Given the description of an element on the screen output the (x, y) to click on. 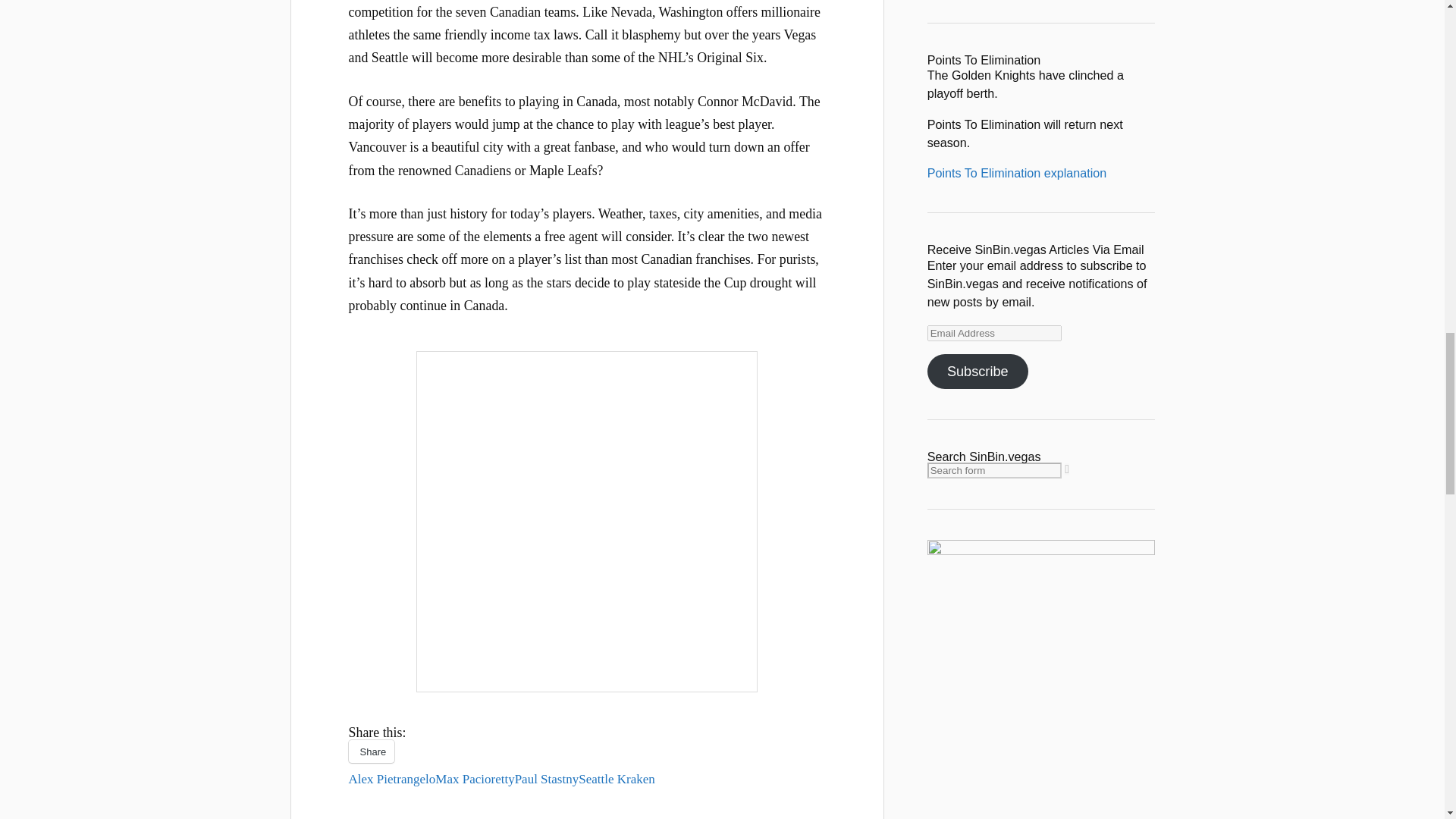
Seattle Kraken (616, 779)
Max Pacioretty (474, 779)
Share (371, 751)
Paul Stastny (547, 779)
Alex Pietrangelo (392, 779)
